Given the description of an element on the screen output the (x, y) to click on. 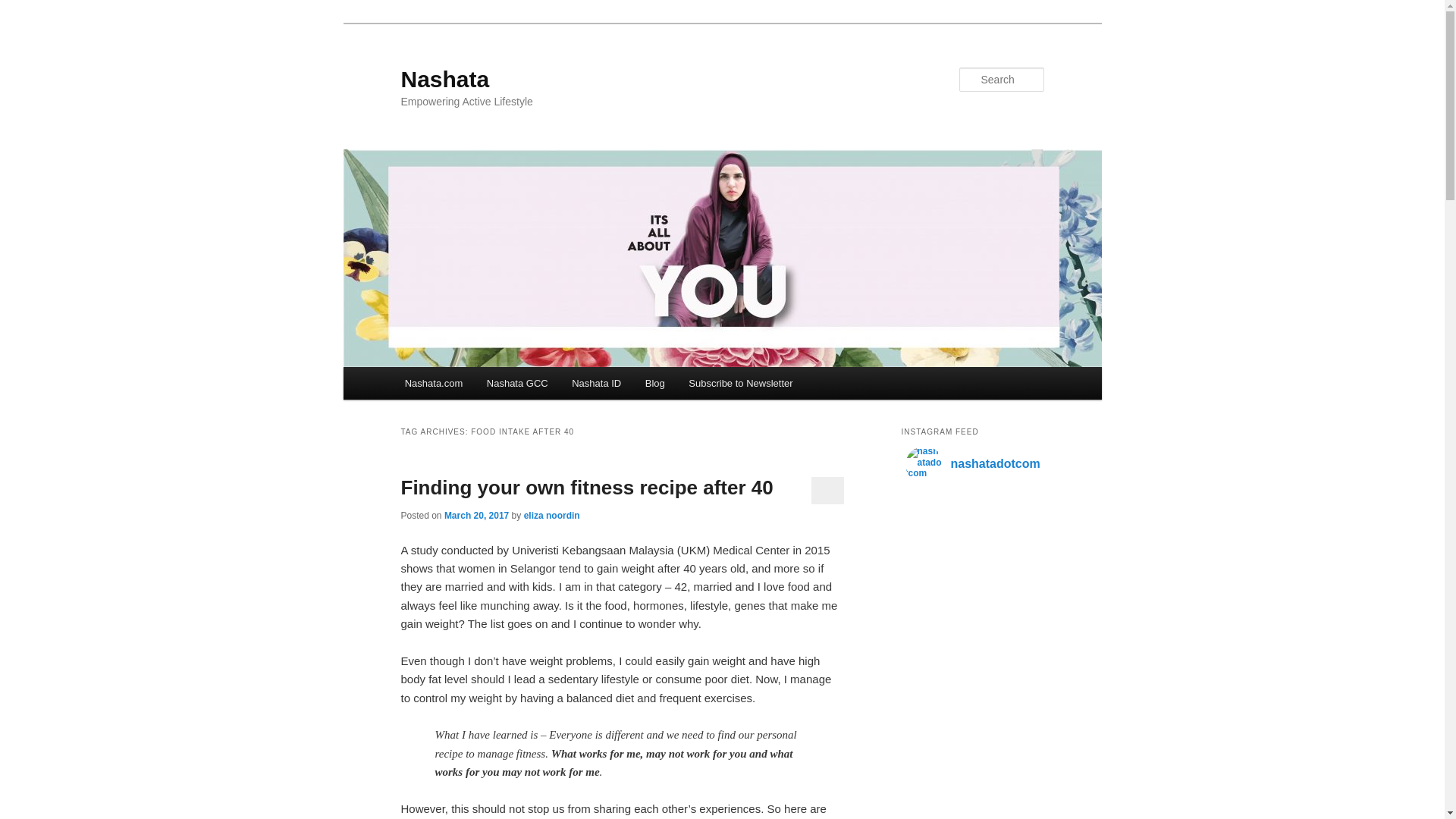
9:59 pm (476, 515)
Subscribe to Newsletter (741, 382)
Search (24, 8)
eliza noordin (551, 515)
Nashata (444, 78)
Nashata ID (596, 382)
View all posts by eliza noordin (551, 515)
Nashata GCC (516, 382)
Nashata.com (433, 382)
